Given the description of an element on the screen output the (x, y) to click on. 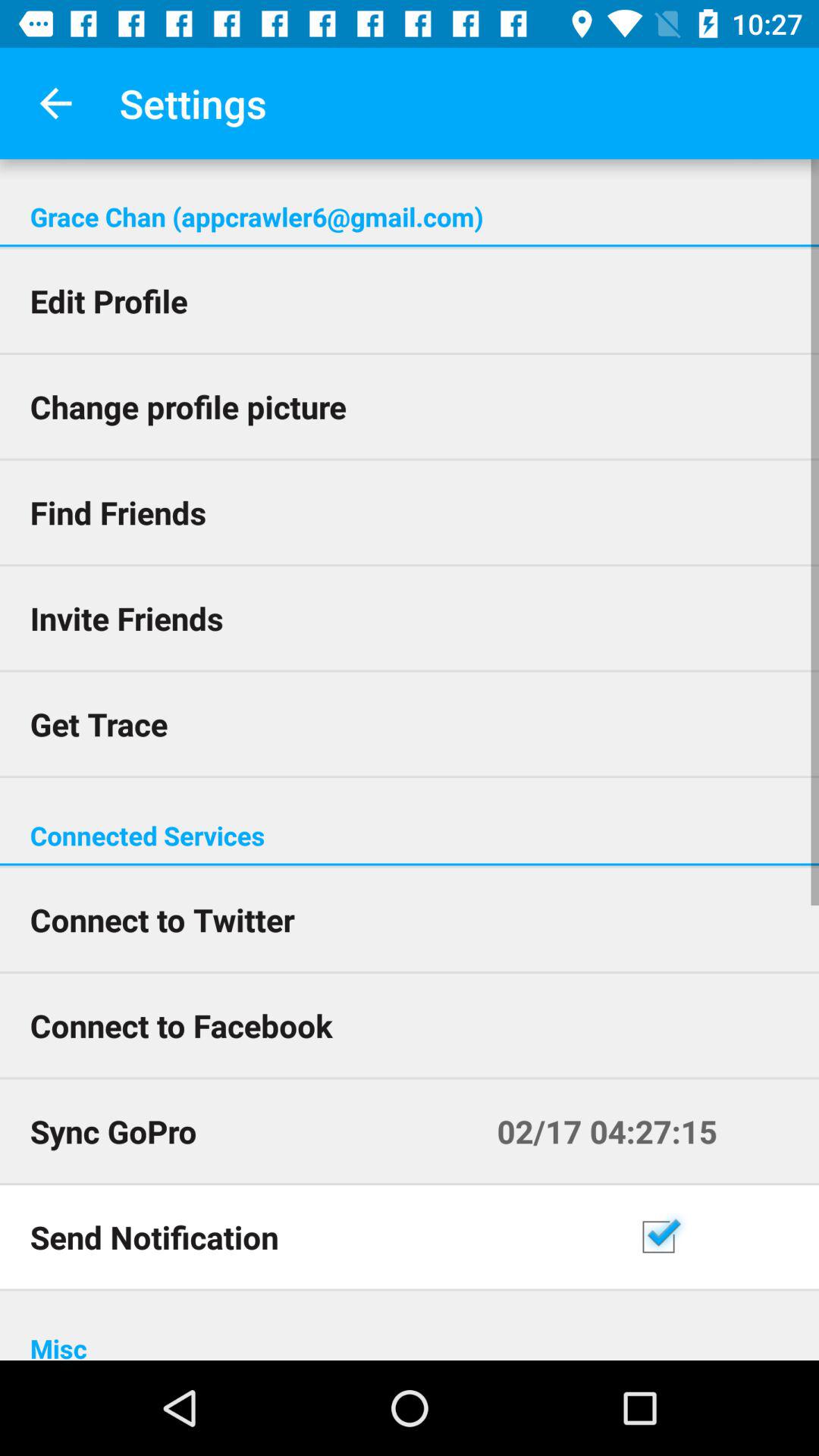
launch the get trace item (409, 723)
